Given the description of an element on the screen output the (x, y) to click on. 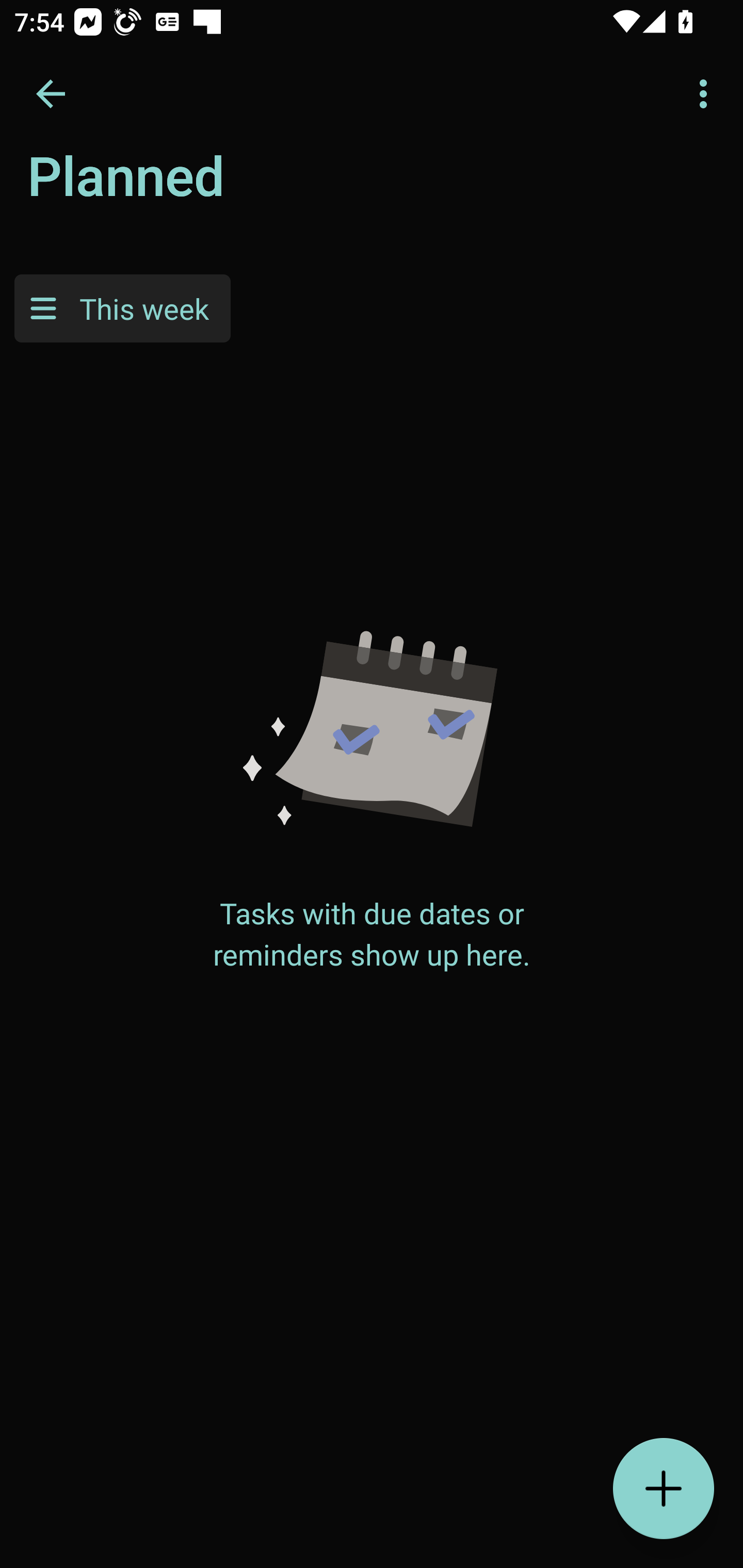
Back (50, 93)
More options (706, 93)
My Day, 0 tasks (182, 187)
This week view selected (122, 307)
Add a task (663, 1488)
